Given the description of an element on the screen output the (x, y) to click on. 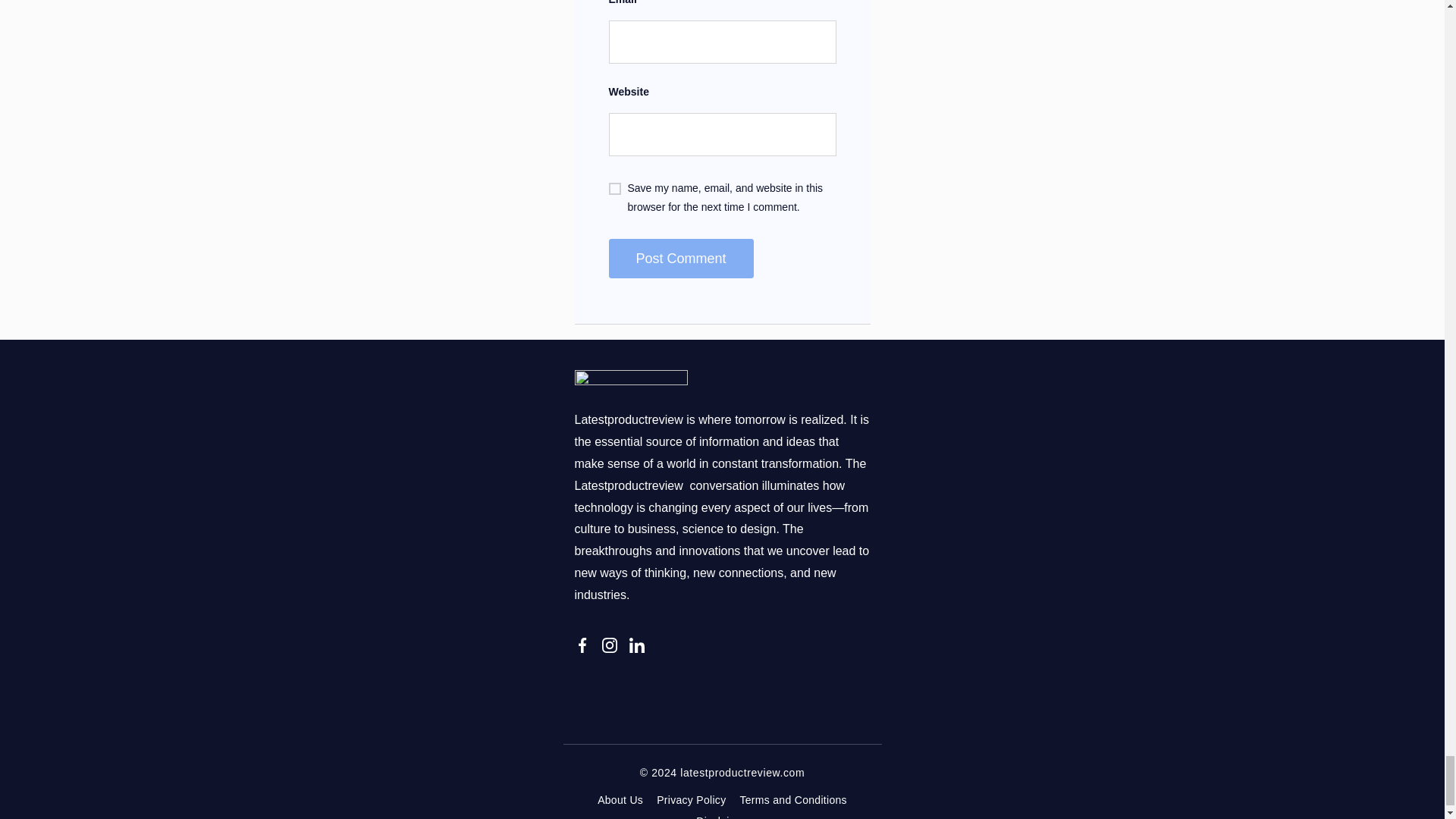
Post Comment (680, 258)
